Given the description of an element on the screen output the (x, y) to click on. 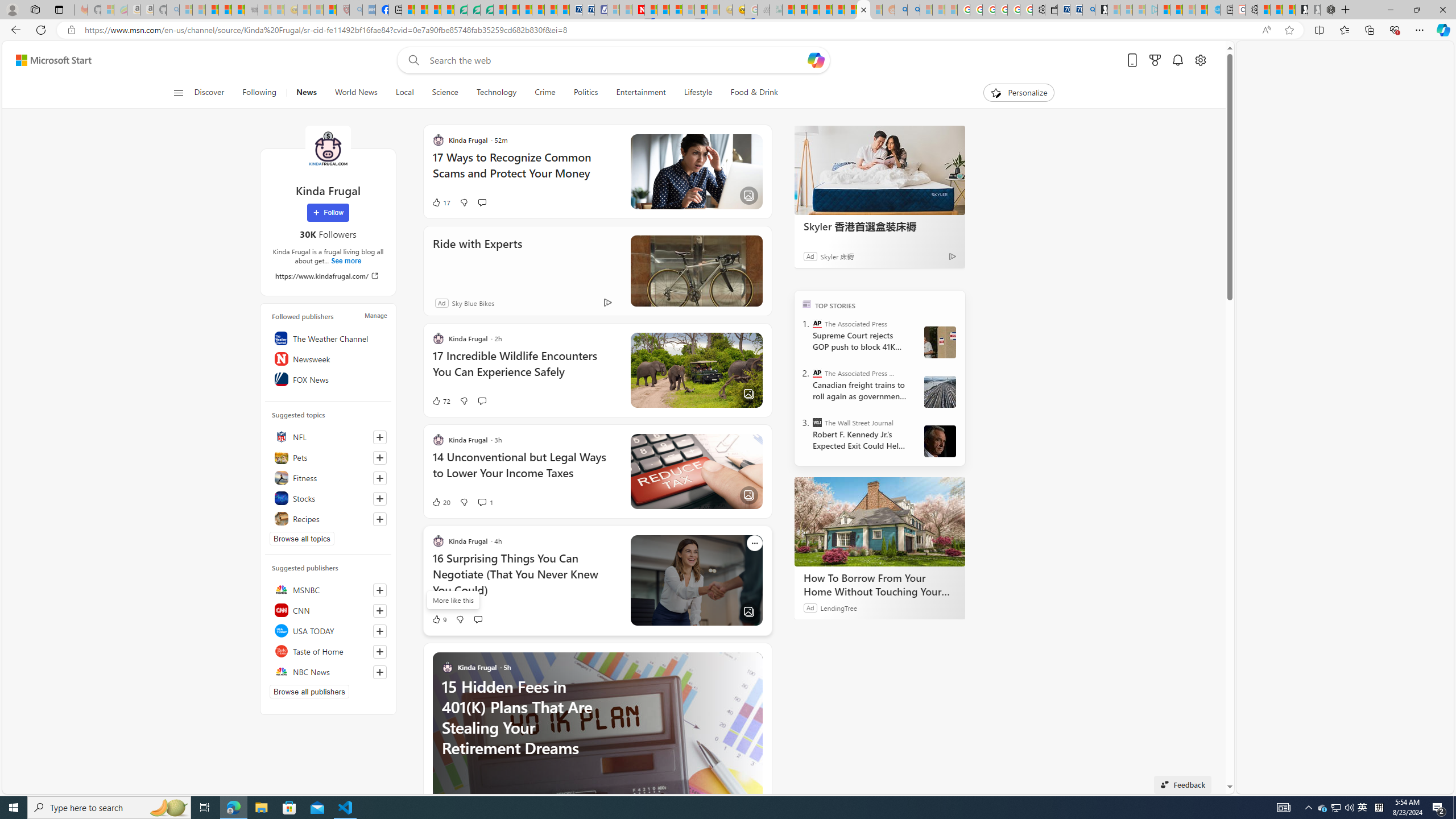
Microsoft Start Gaming (1101, 9)
Ride with ExpertsAdSky Blue Bikes (596, 271)
Skip to footer (46, 59)
Food & Drink (753, 92)
Open Copilot (815, 59)
Class: button-glyph (178, 92)
Microsoft Word - consumer-privacy address update 2.2021 (486, 9)
Food & Drink (748, 92)
